Given the description of an element on the screen output the (x, y) to click on. 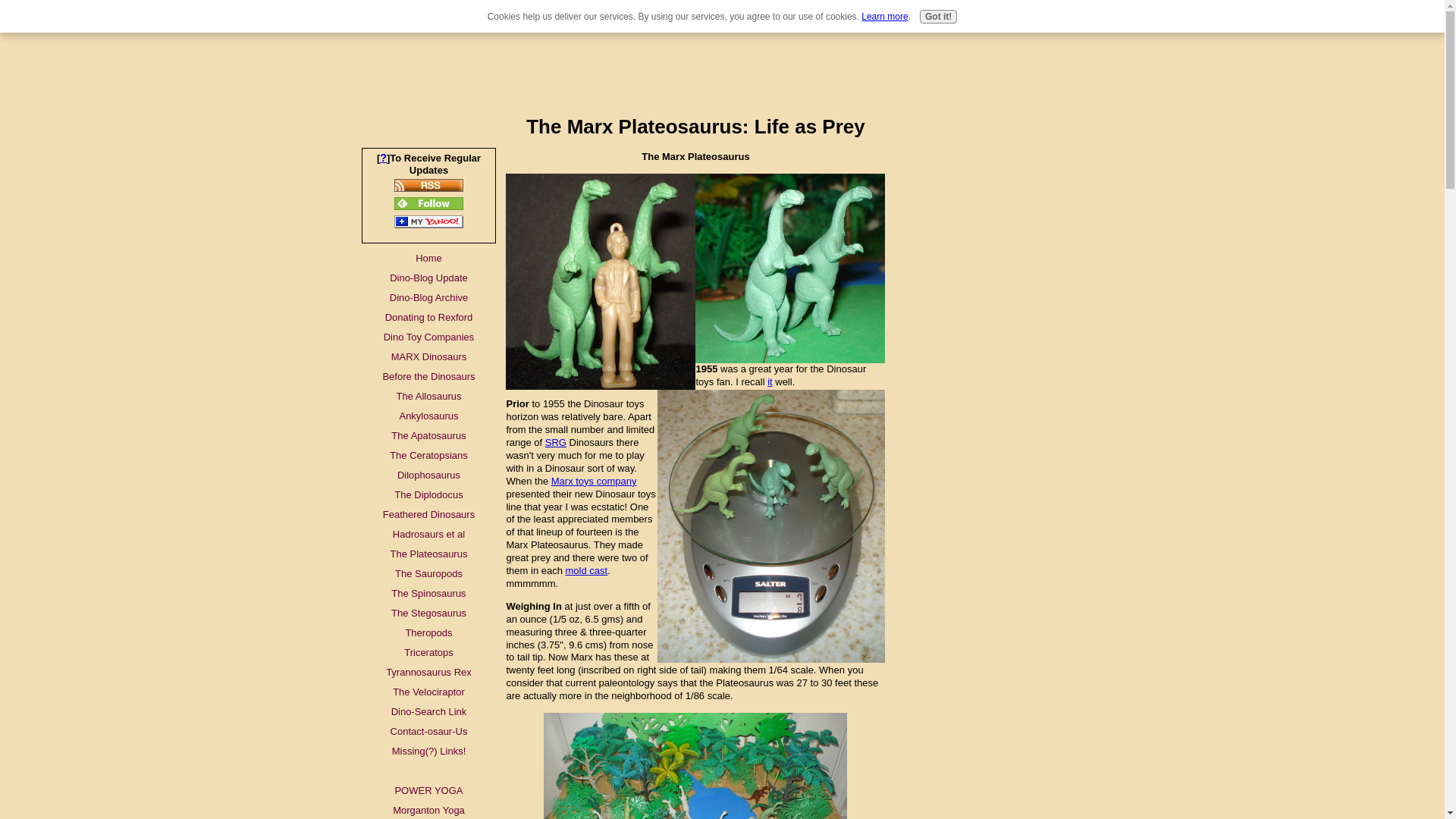
The Sauropods (428, 573)
Triceratops (428, 652)
Dilophosaurus (428, 475)
Before the Dinosaurs (428, 376)
Home (428, 258)
Dino-Search Link (428, 711)
Morganton Yoga (428, 809)
The Ceratopsians (428, 455)
The Apatosaurus (428, 435)
The Spinosaurus (428, 593)
